Given the description of an element on the screen output the (x, y) to click on. 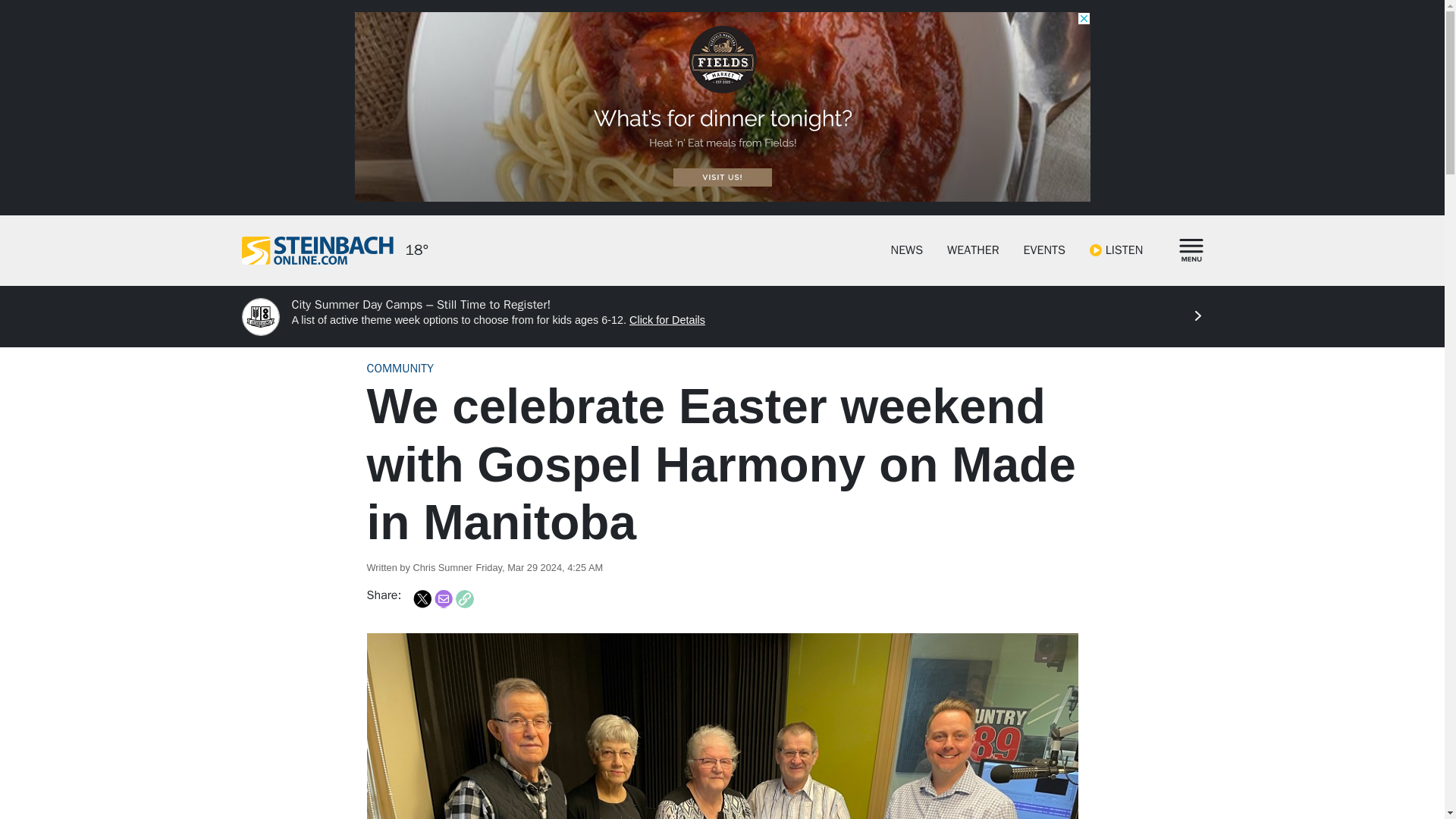
Copy Link (464, 598)
Share to Email (442, 598)
